Given the description of an element on the screen output the (x, y) to click on. 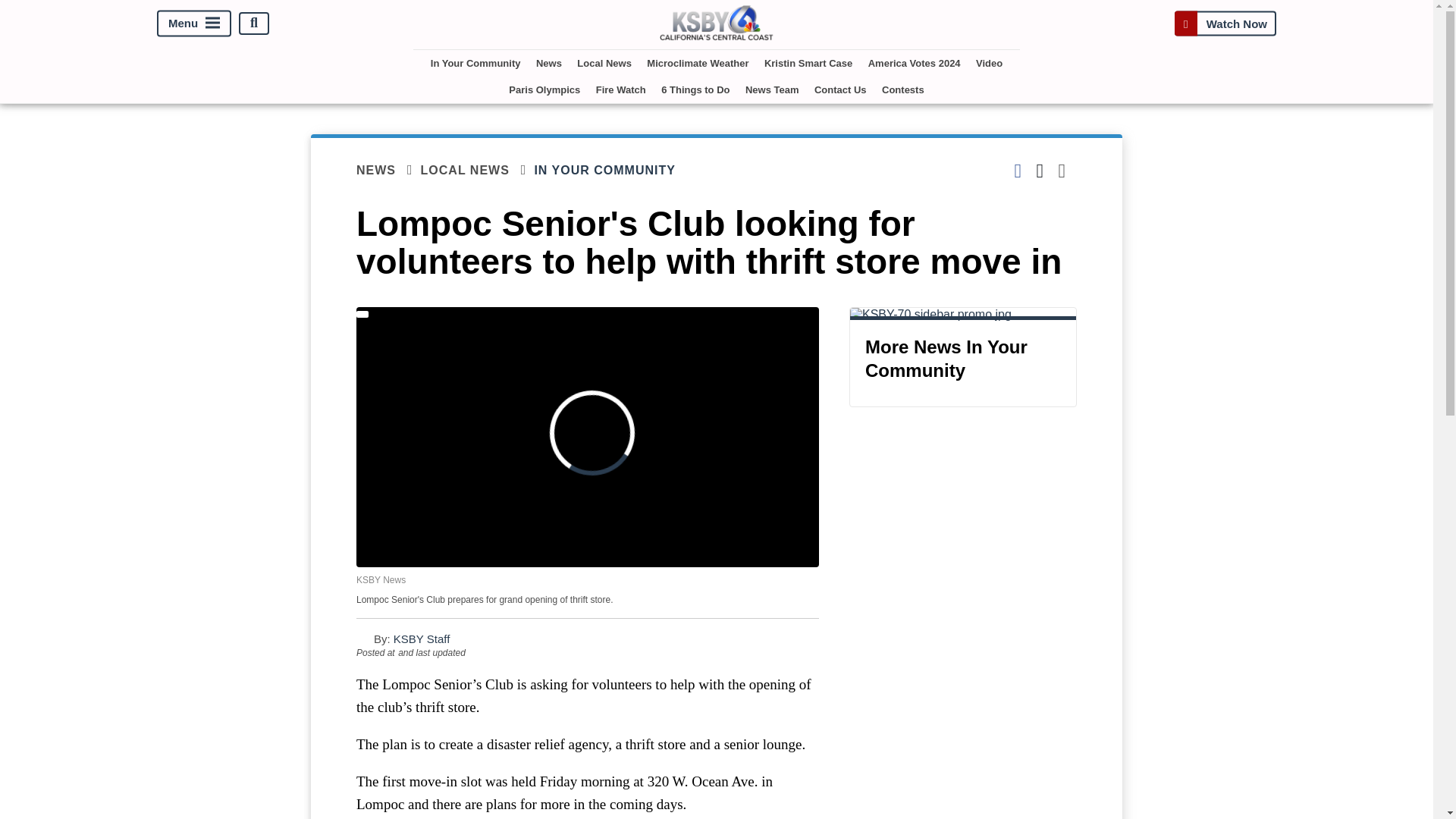
Watch Now (1224, 22)
Menu (194, 22)
